Given the description of an element on the screen output the (x, y) to click on. 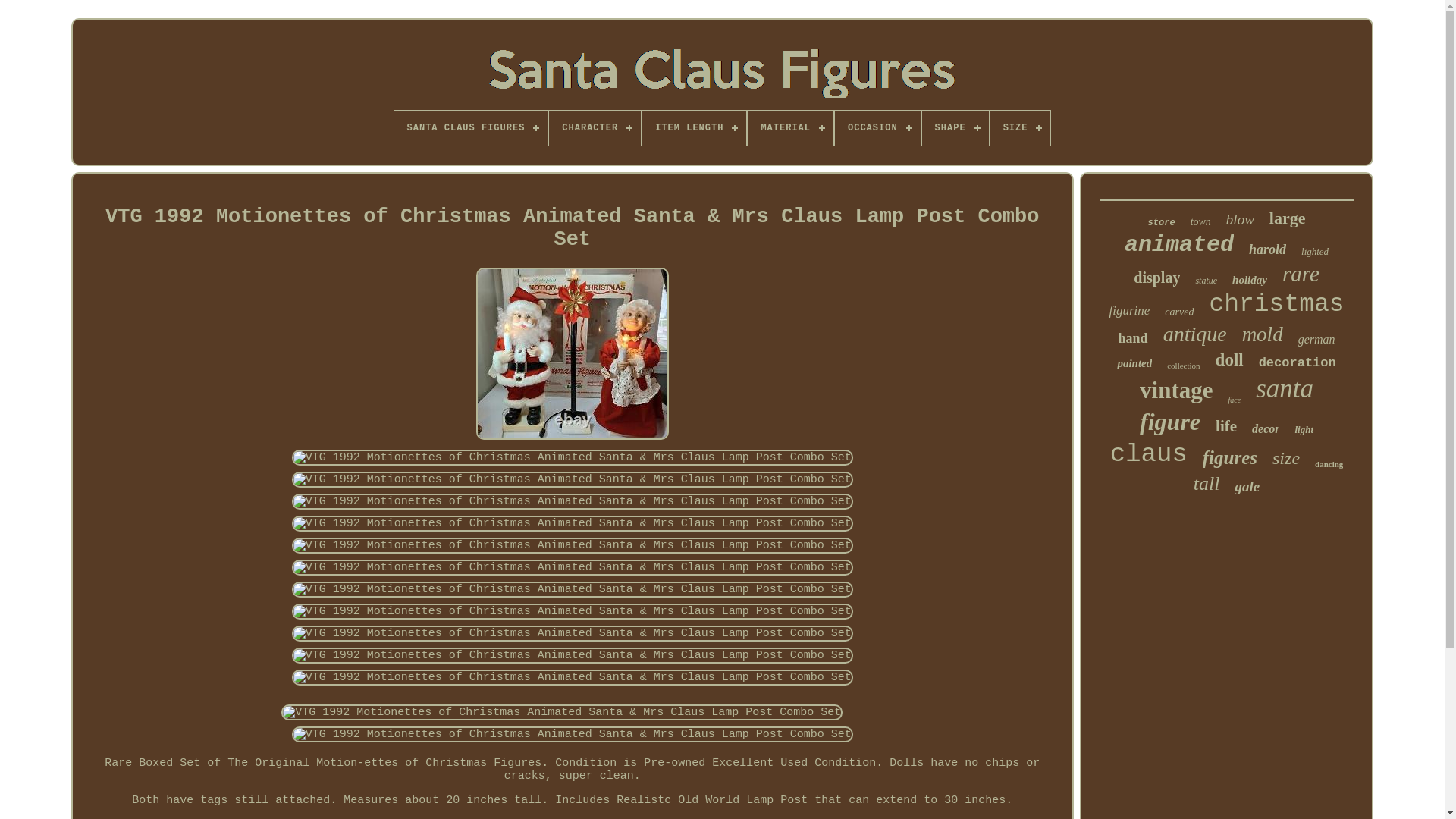
SANTA CLAUS FIGURES (471, 127)
CHARACTER (594, 127)
ITEM LENGTH (693, 127)
